Given the description of an element on the screen output the (x, y) to click on. 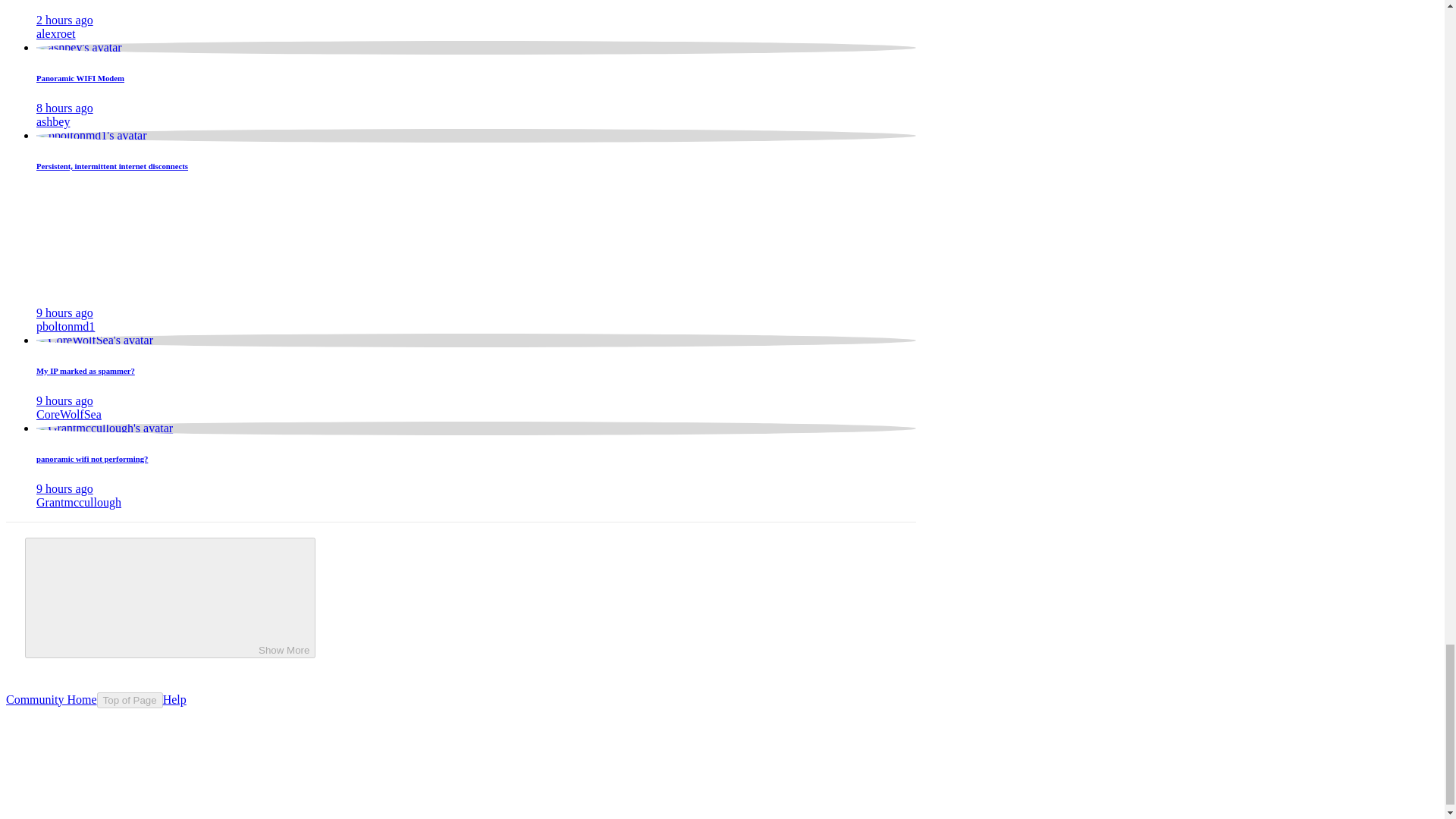
July 30, 2024 at 7:19 AM (64, 19)
July 30, 2024 at 1:10 AM (64, 107)
July 30, 2024 at 12:33 AM (64, 312)
